Given the description of an element on the screen output the (x, y) to click on. 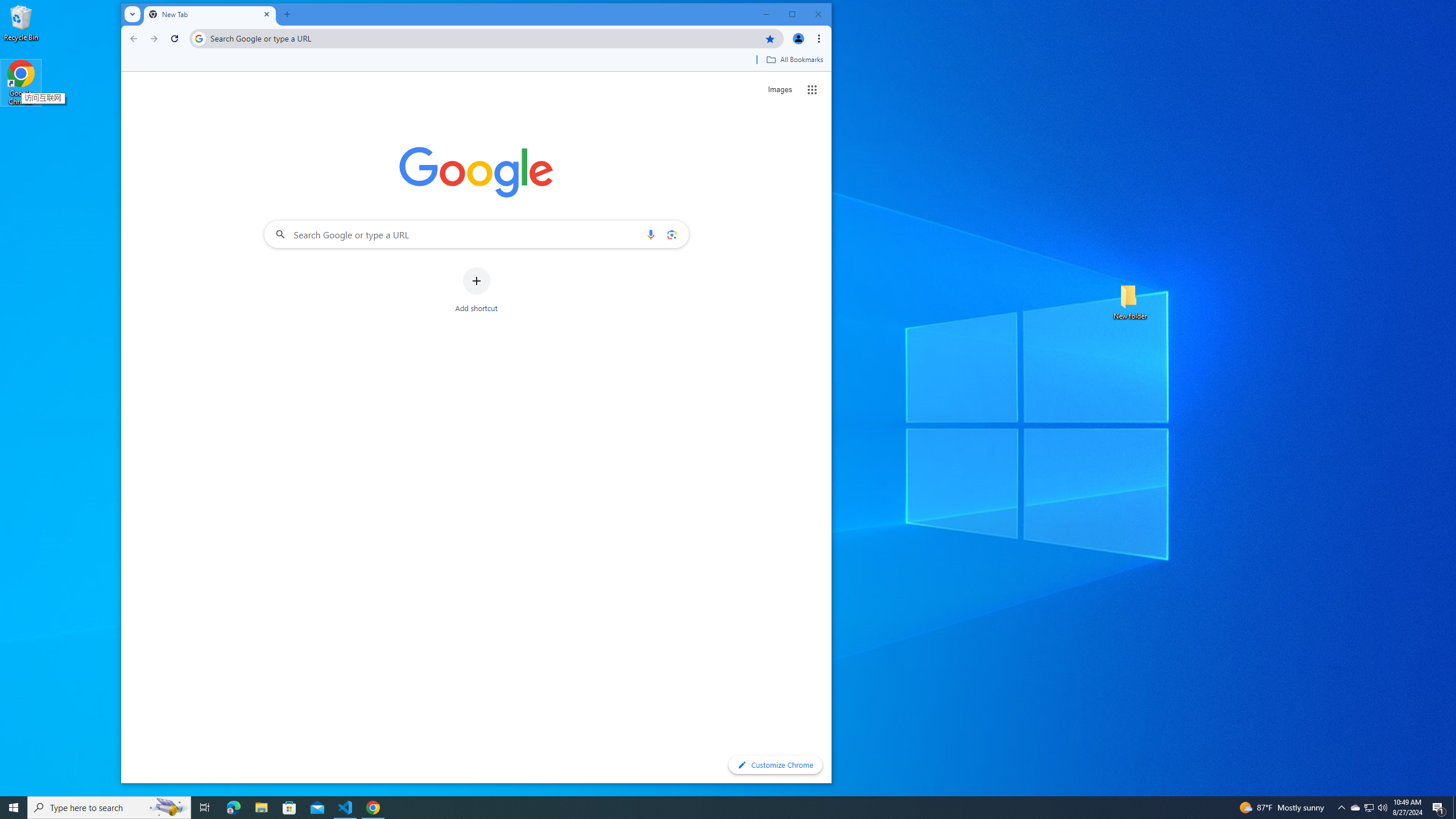
New folder (1130, 301)
Recycle Bin (21, 22)
Google Chrome (21, 82)
